Given the description of an element on the screen output the (x, y) to click on. 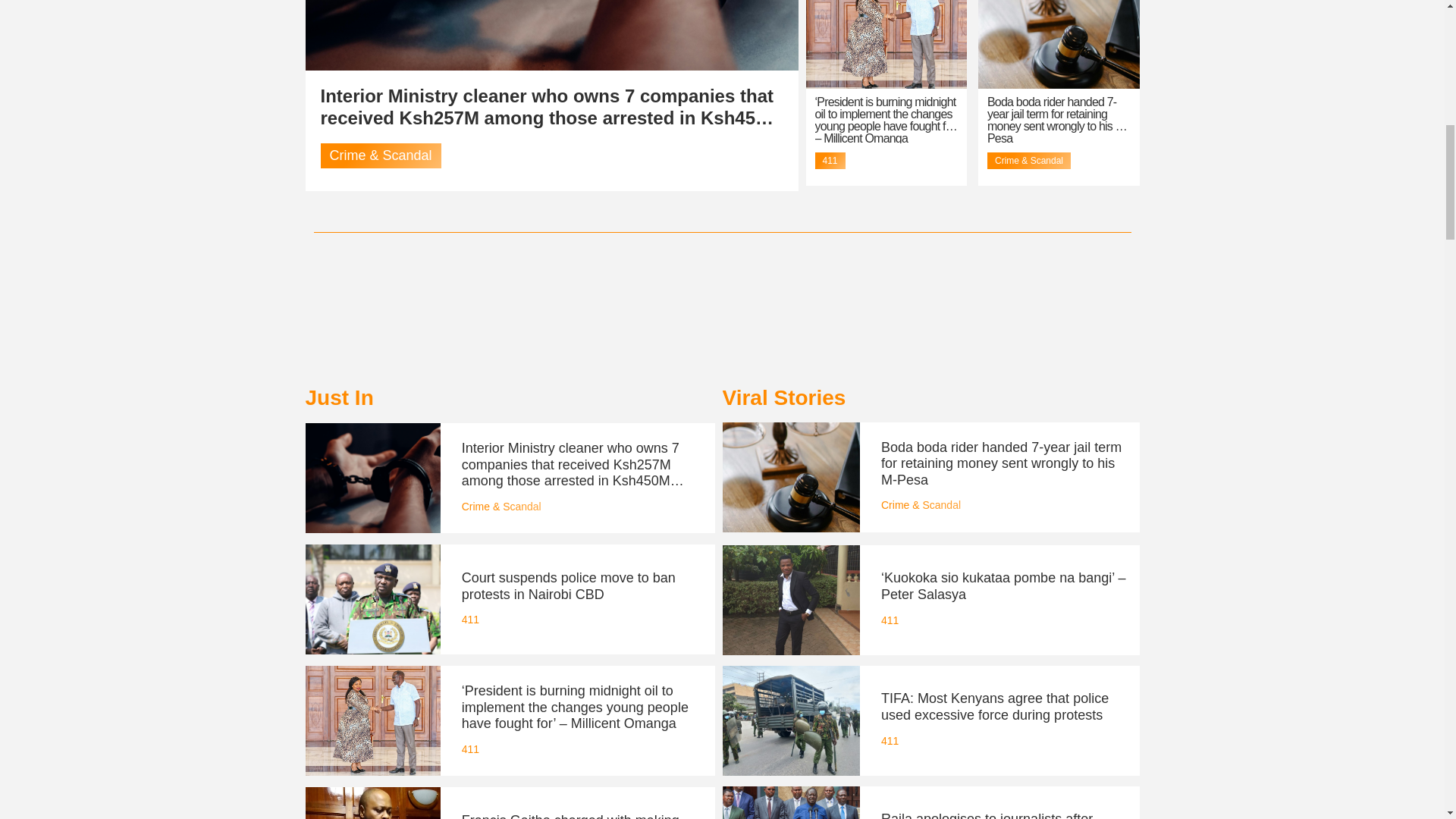
Court suspends police move to ban protests in Nairobi CBD (568, 585)
